Given the description of an element on the screen output the (x, y) to click on. 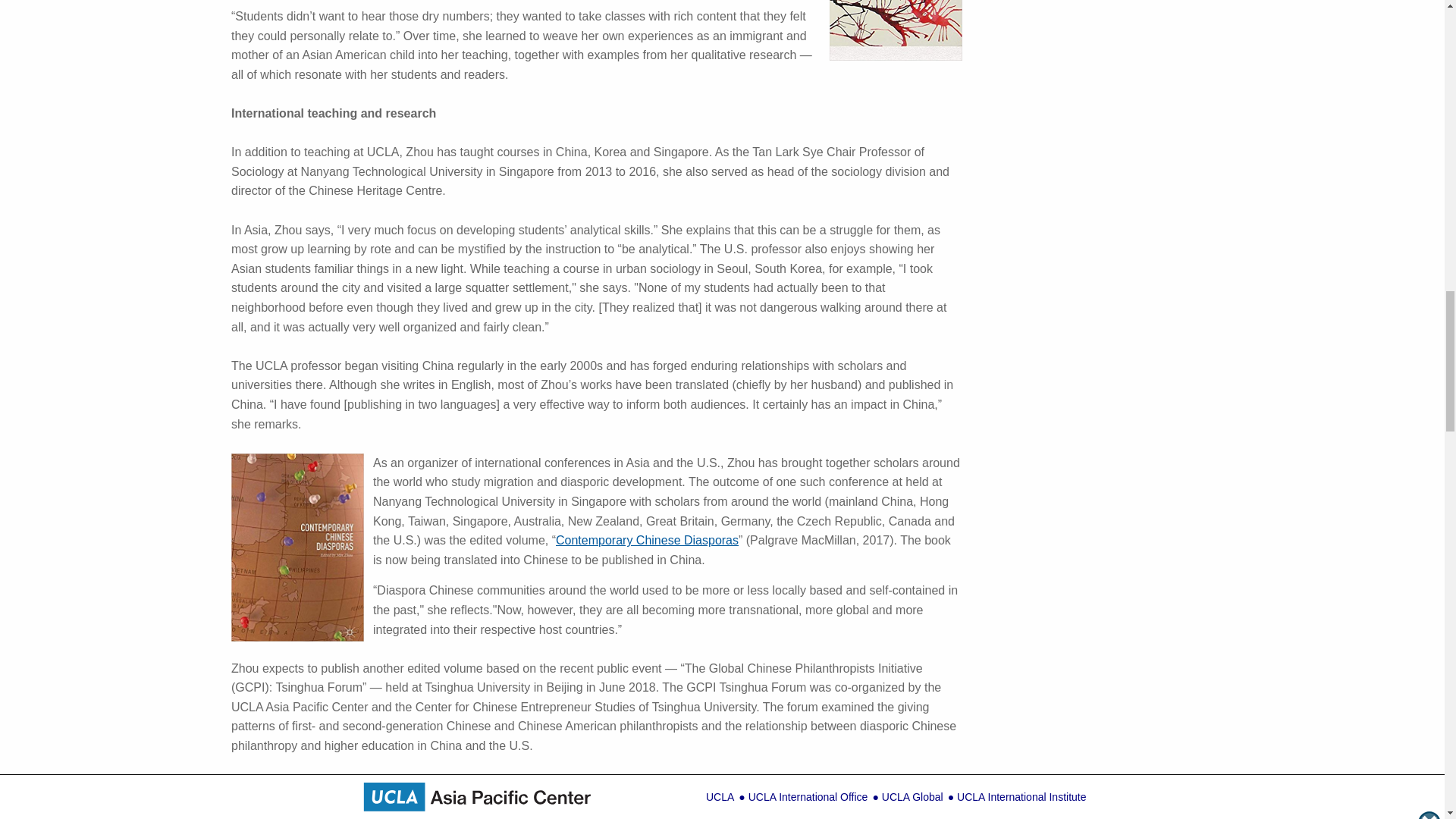
Contemporary Chinese Diasporas (647, 540)
